Given the description of an element on the screen output the (x, y) to click on. 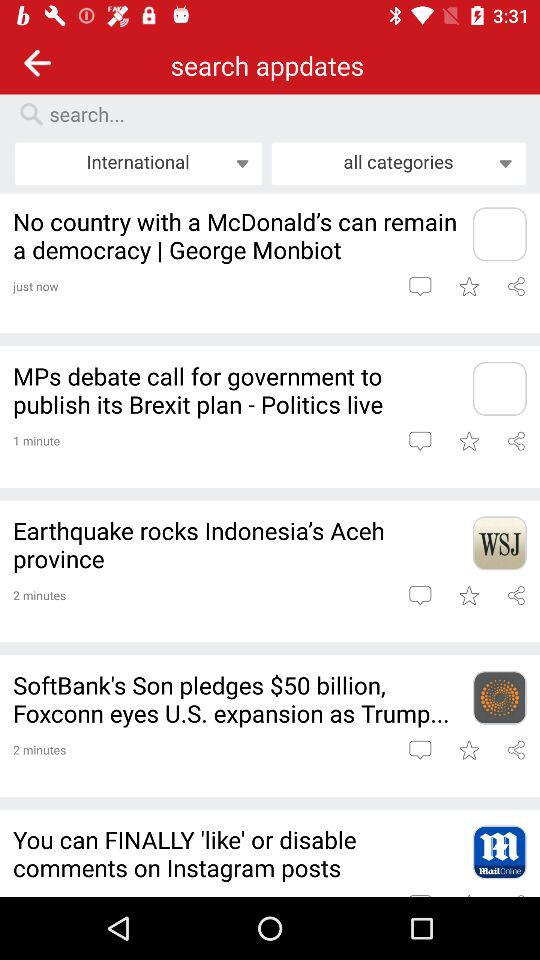
add to favourite option (468, 749)
